Given the description of an element on the screen output the (x, y) to click on. 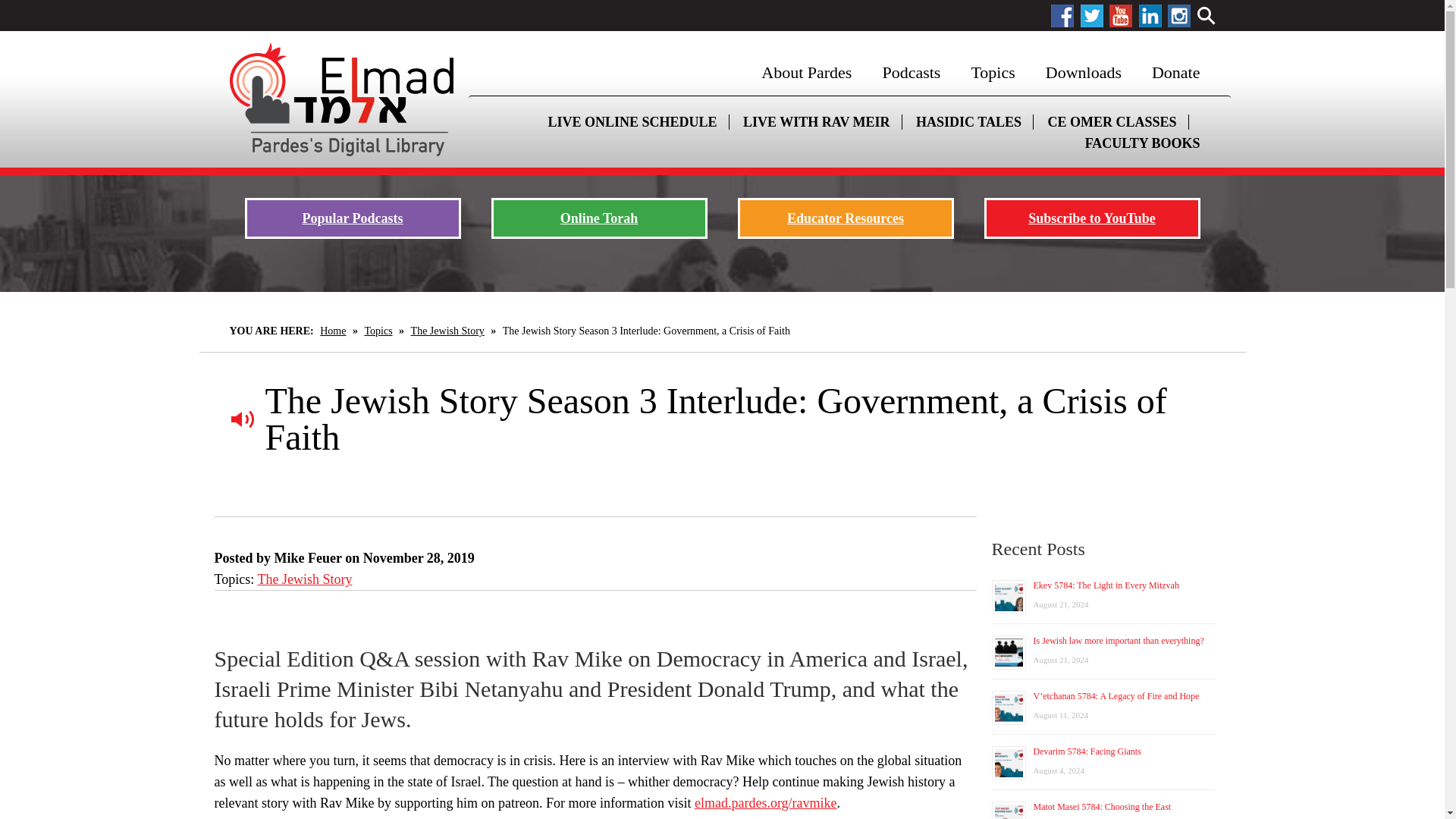
Podcasts (910, 72)
About Pardes (805, 72)
Return to the homepage (340, 99)
